Given the description of an element on the screen output the (x, y) to click on. 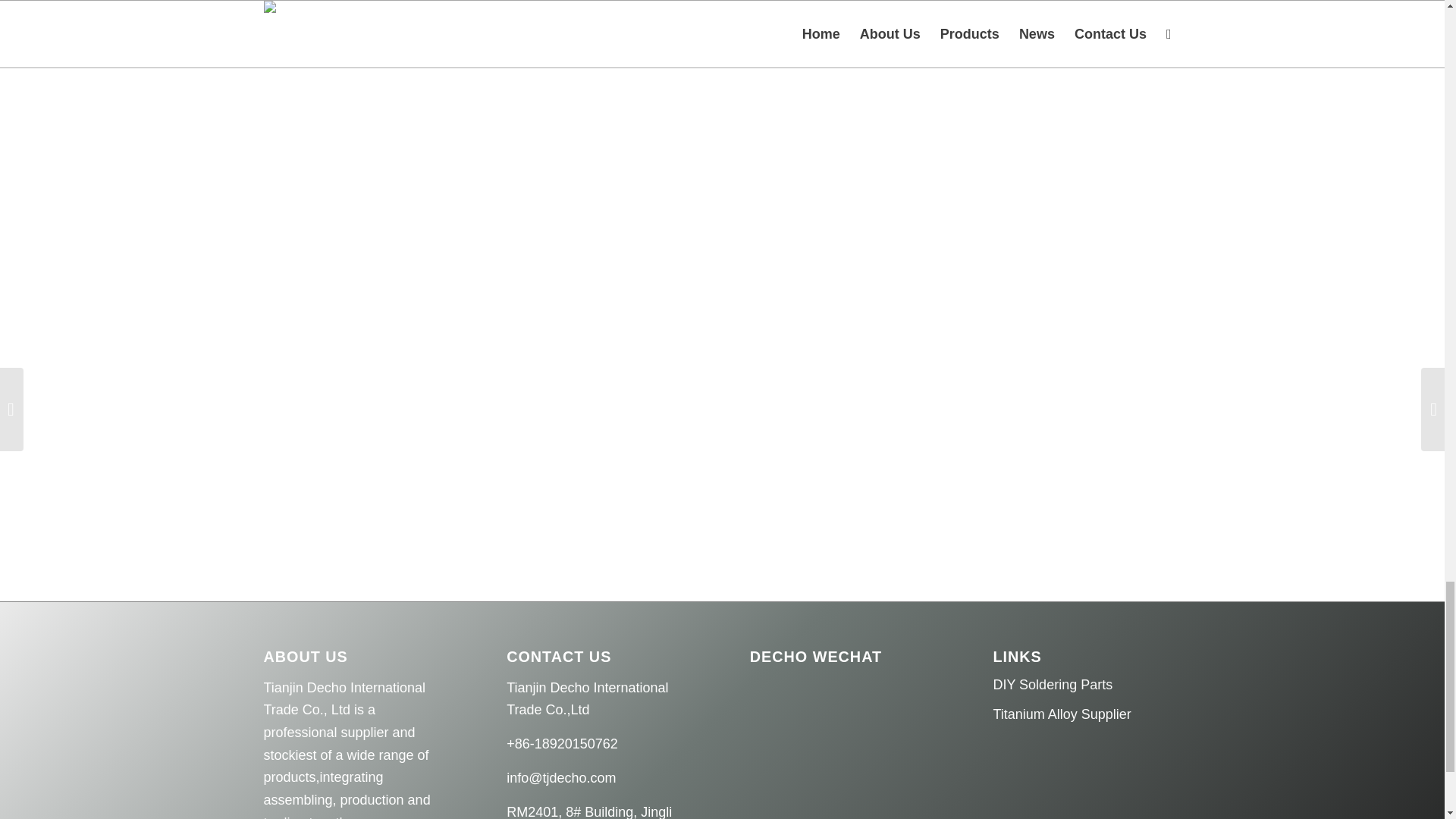
DECHO Wechat (817, 738)
